Given the description of an element on the screen output the (x, y) to click on. 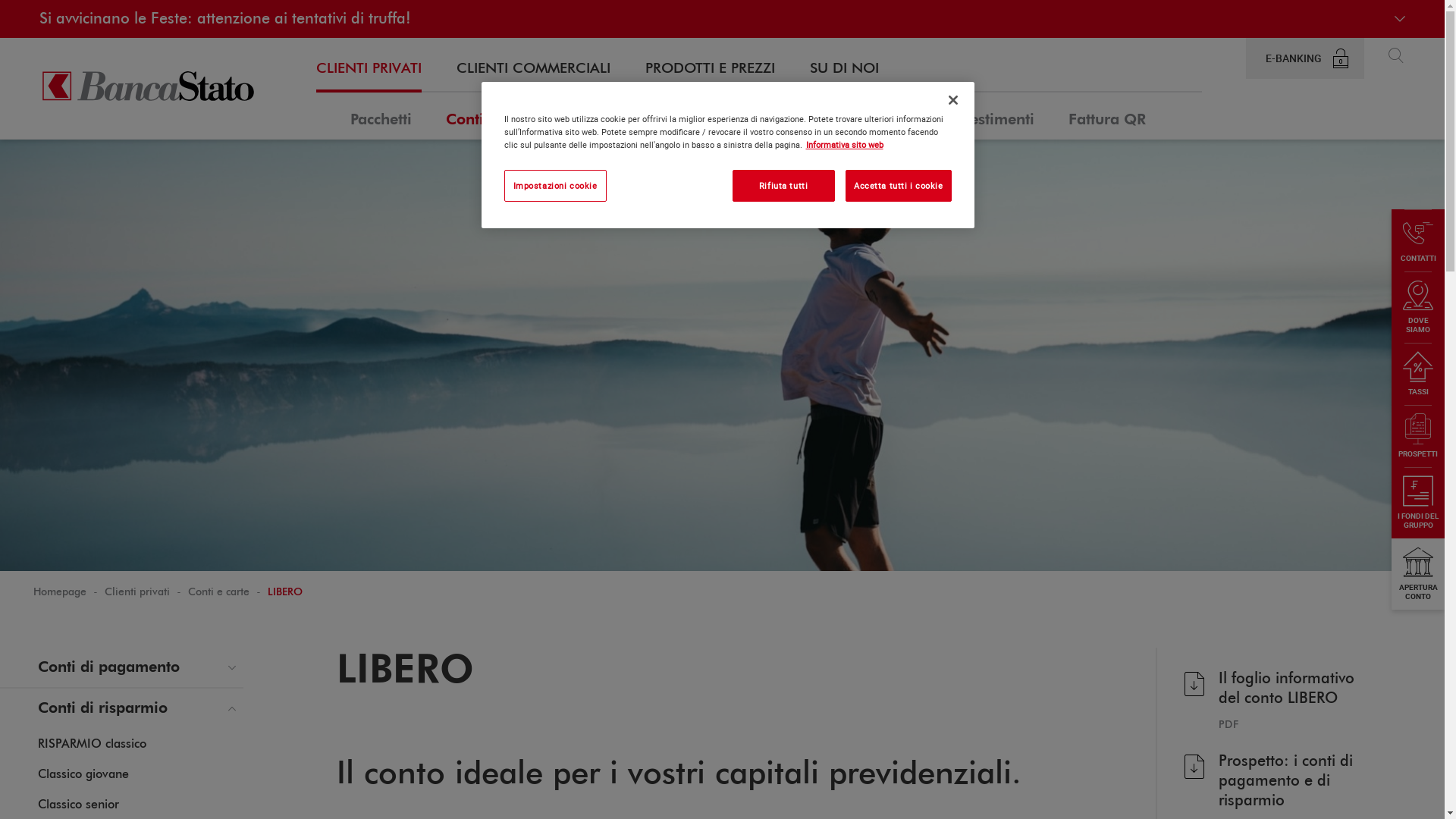
Ipoteche e crediti Element type: text (630, 115)
DOVE SIAMO Element type: text (1417, 306)
Conti e carte Element type: text (218, 592)
Clienti privati Element type: text (136, 592)
Investimenti Element type: text (991, 115)
Conti e carte Element type: text (490, 115)
PRODOTTI E PREZZI Element type: text (710, 68)
Pacchetti Element type: text (380, 115)
Conti di pagamento Element type: text (121, 667)
PROSPETTI Element type: text (1417, 435)
RISPARMIO classico Element type: text (91, 744)
Accetta tutti i cookie Element type: text (898, 185)
Conti di risparmio Element type: text (121, 708)
TASSI Element type: text (1417, 373)
Il foglio informativo del conto LIBERO
PDF Element type: text (1279, 699)
Classico giovane Element type: text (82, 774)
Rifiuta tutti Element type: text (783, 185)
I FONDI DEL GRUPPO Element type: text (1417, 502)
CLIENTI PRIVATI Element type: text (368, 68)
Fattura QR Element type: text (1106, 115)
CONTATTI Element type: text (1417, 240)
Informativa sito web Element type: text (843, 144)
SU DI NOI Element type: text (843, 68)
Previdenza e assicurazioni Element type: text (819, 115)
Homepage Element type: text (59, 592)
Si avvicinano le Feste: attenzione ai tentativi di truffa! Element type: text (722, 18)
APERTURA CONTO Element type: text (1417, 573)
E-BANKING Element type: text (1304, 57)
Classico senior Element type: text (78, 805)
CLIENTI COMMERCIALI Element type: text (533, 68)
Impostazioni cookie Element type: text (554, 185)
